Given the description of an element on the screen output the (x, y) to click on. 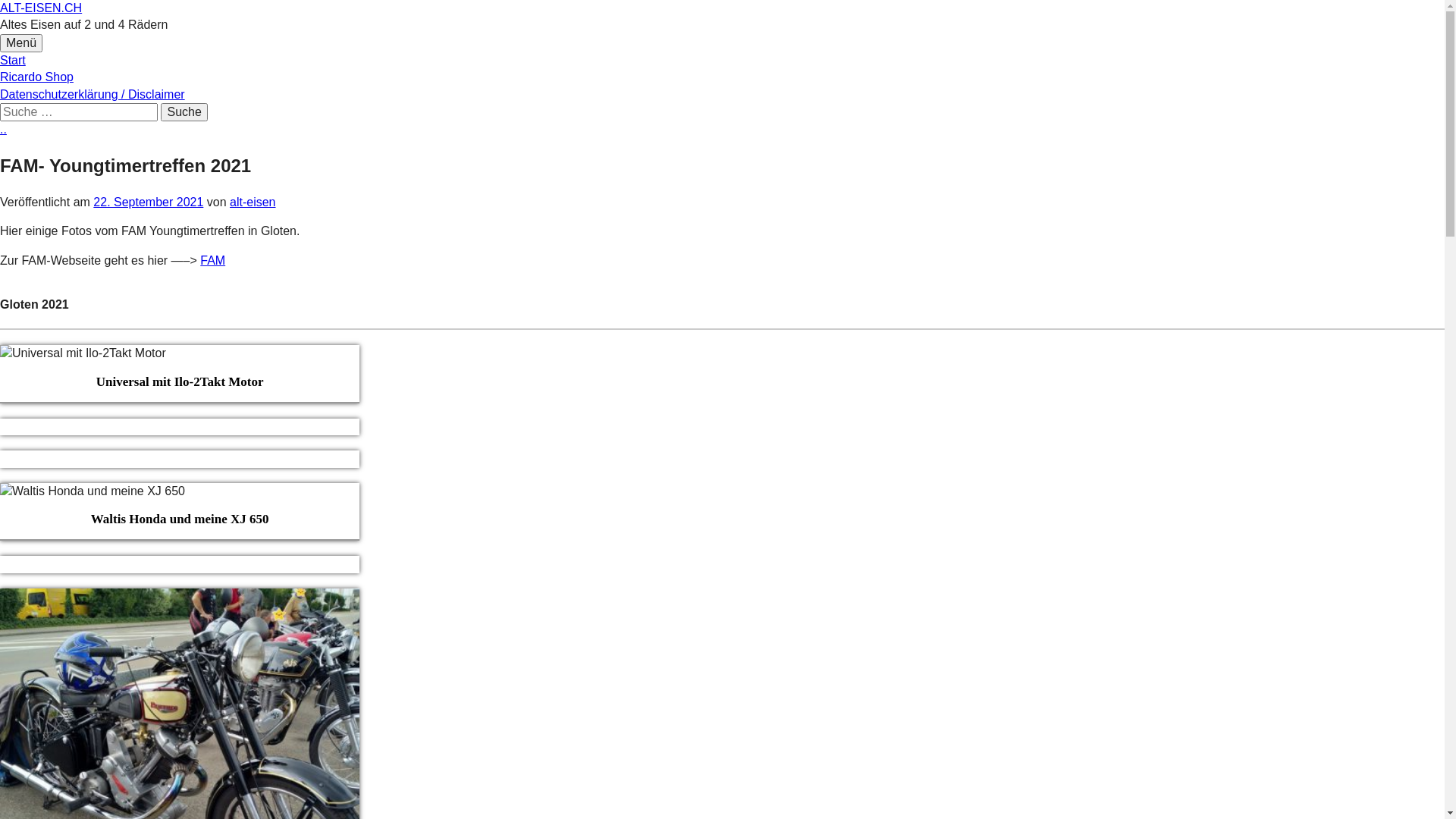
22. September 2021 Element type: text (148, 201)
ALT-EISEN.CH Element type: text (40, 7)
.. Element type: text (3, 128)
Ricardo Shop Element type: text (36, 76)
Suche Element type: text (183, 112)
Start Element type: text (12, 59)
alt-eisen Element type: text (252, 201)
FAM Element type: text (212, 260)
